Given the description of an element on the screen output the (x, y) to click on. 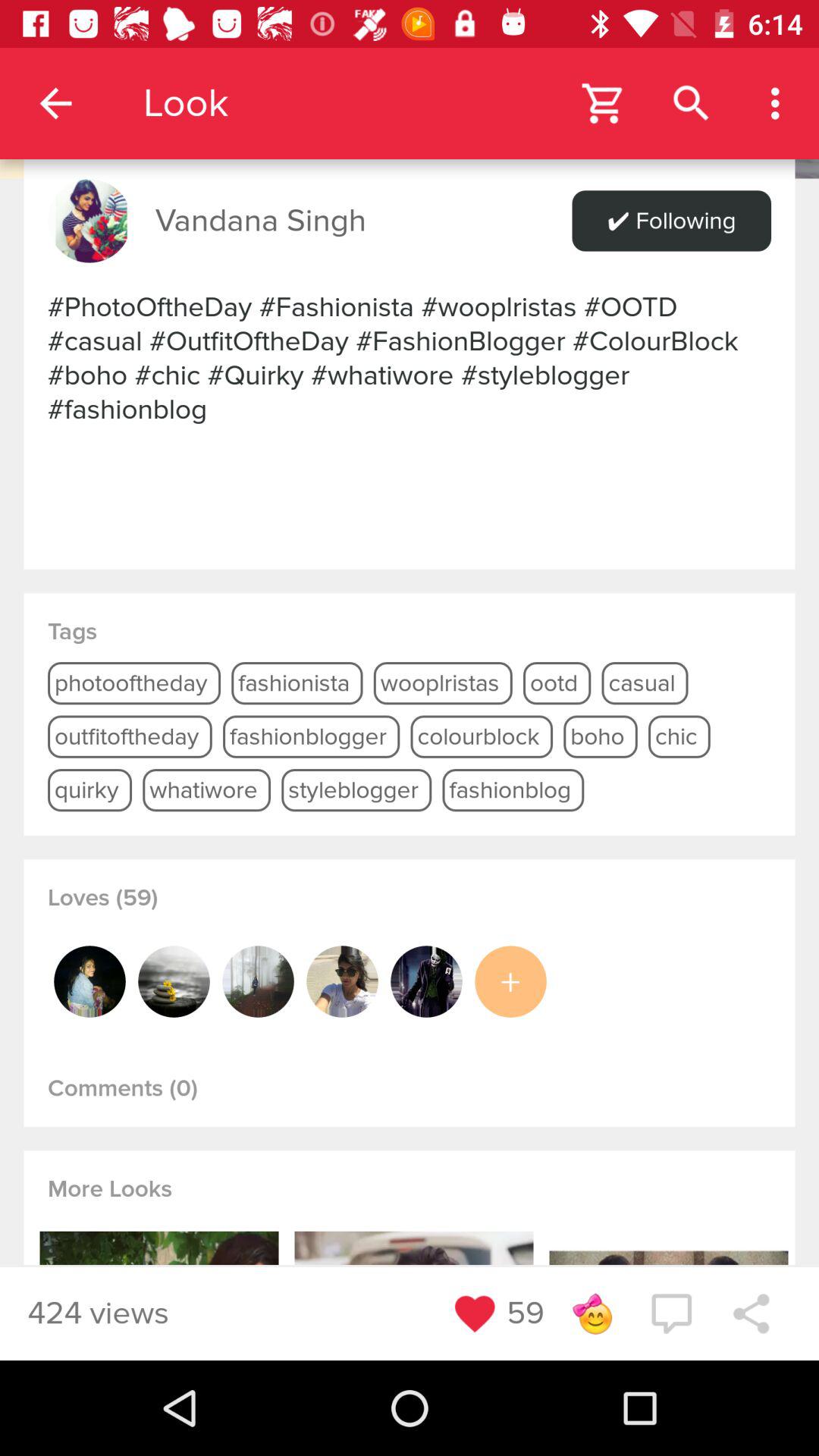
like post (474, 1313)
